Given the description of an element on the screen output the (x, y) to click on. 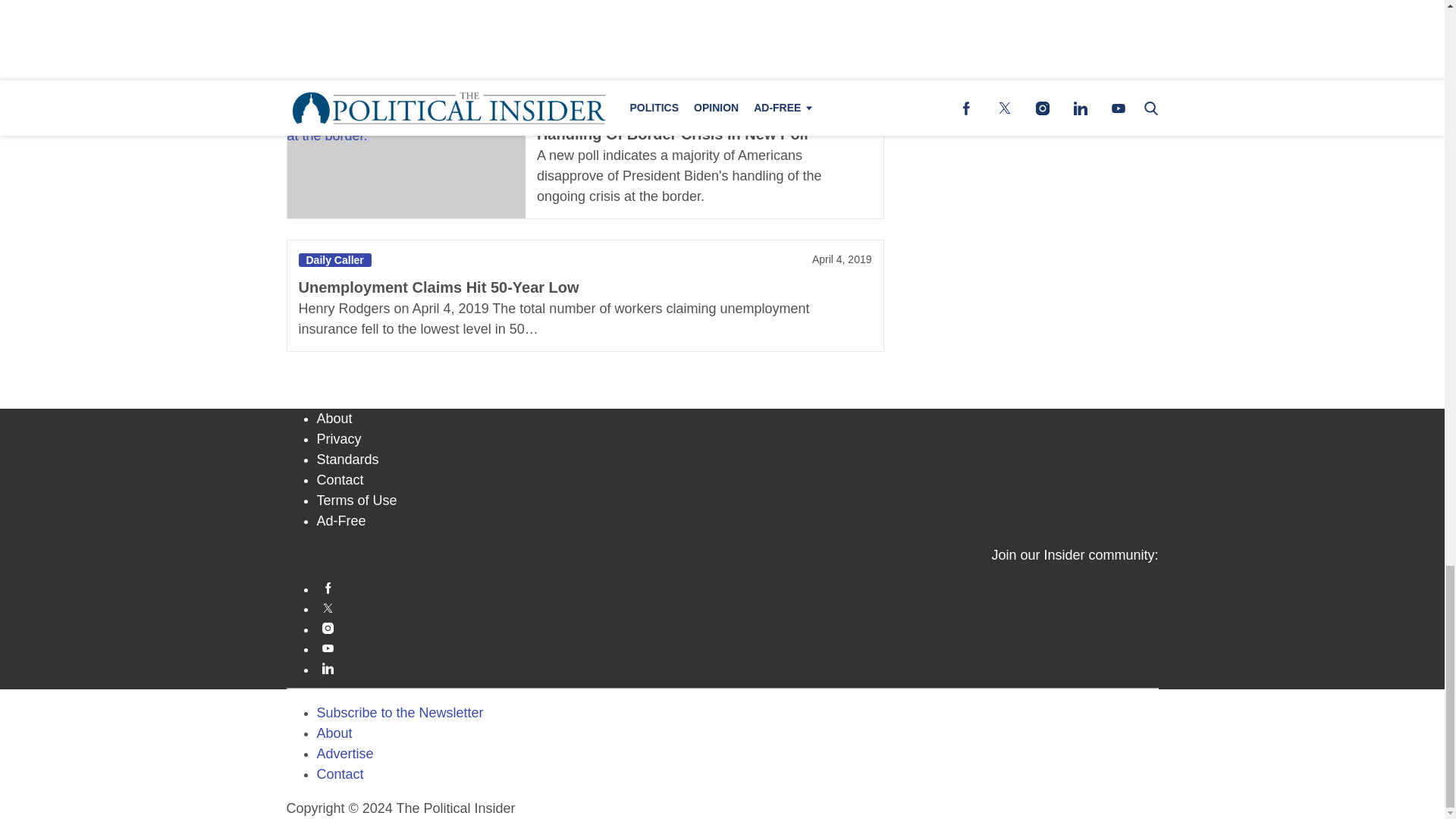
Follow us on Instagram (737, 627)
Follow us on Facebook (737, 587)
New Poll Shows Biden Approval Rating At All-Time Low (405, 21)
Follow us on Twitter (737, 607)
